Given the description of an element on the screen output the (x, y) to click on. 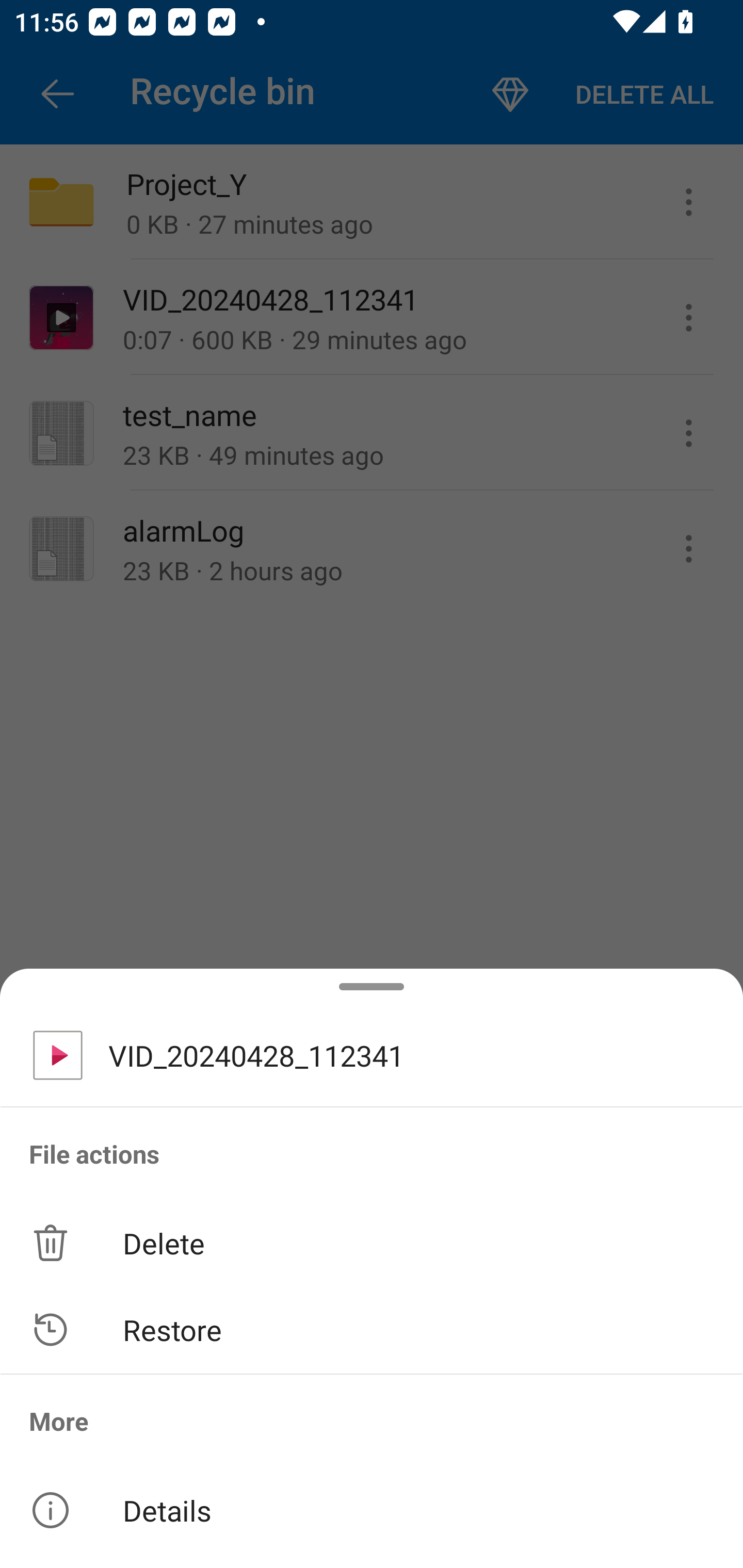
Delete button Delete (371, 1242)
Restore button Restore (371, 1329)
Details button Details (371, 1510)
